Given the description of an element on the screen output the (x, y) to click on. 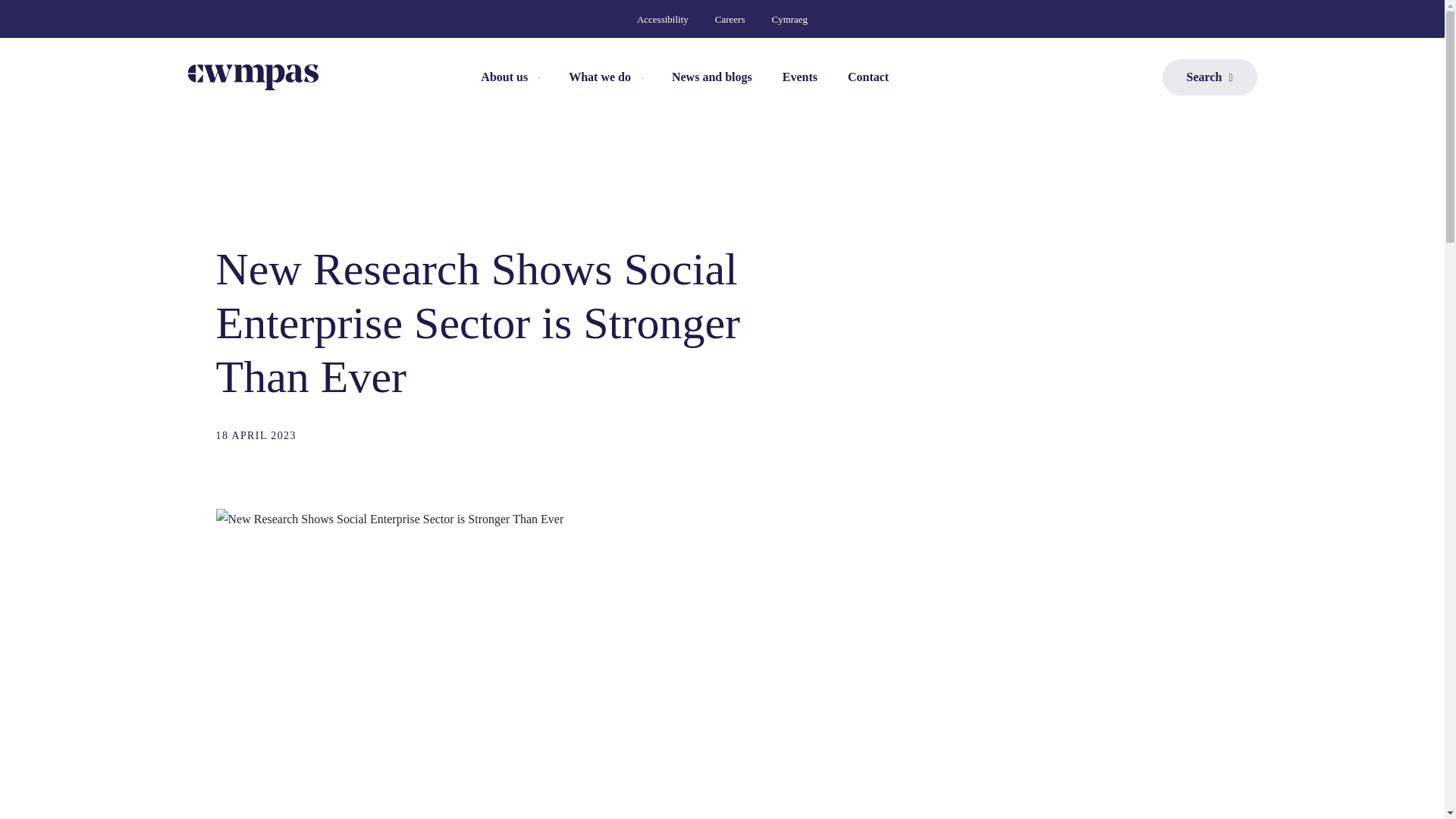
News and blogs (711, 76)
Contact (868, 76)
Search (1209, 76)
About us (509, 76)
Events (799, 76)
Accessibility (663, 18)
Cymraeg (789, 18)
Careers (730, 18)
What we do (604, 76)
